Given the description of an element on the screen output the (x, y) to click on. 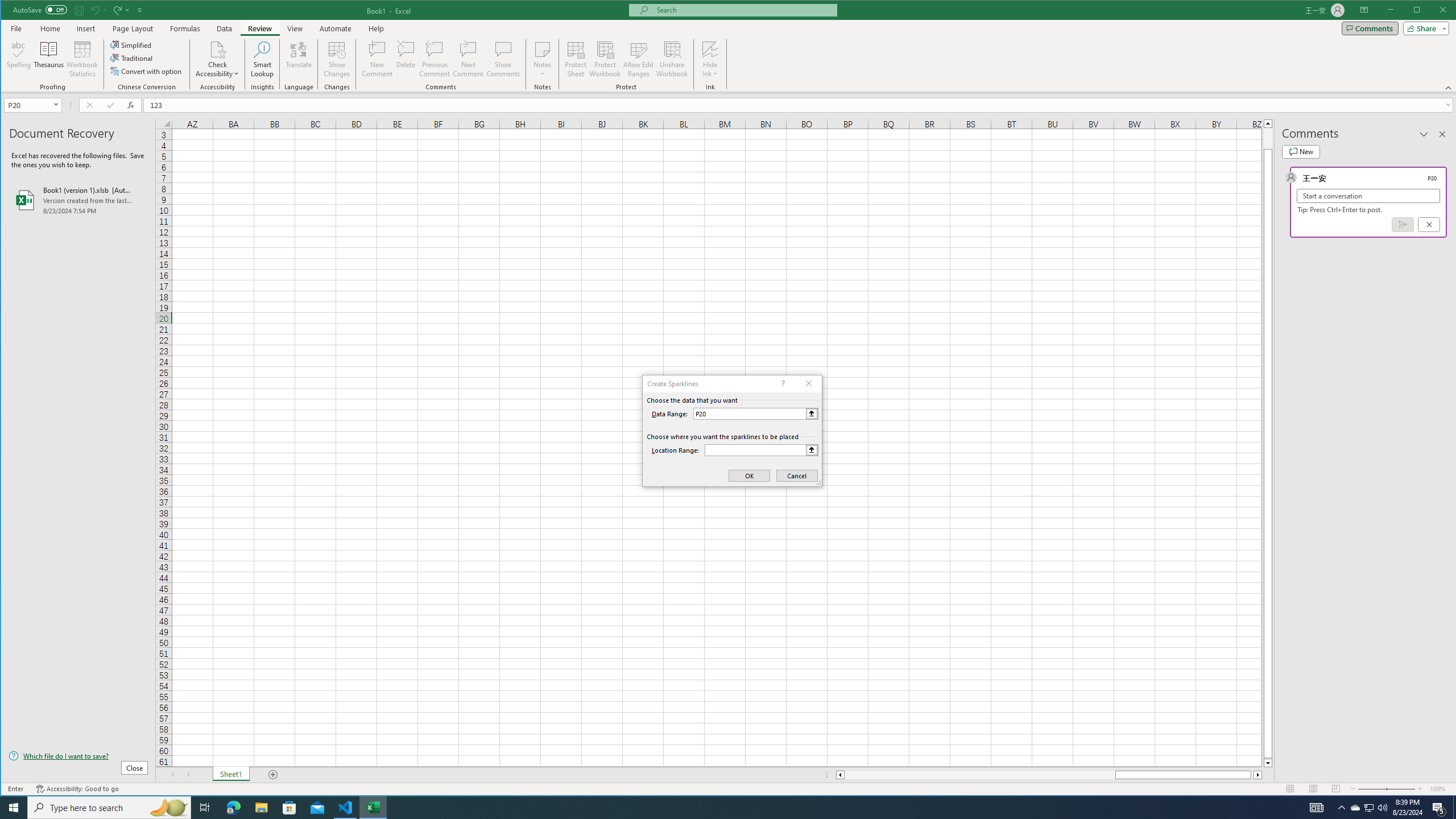
Translate (298, 59)
Cancel (1428, 224)
Show Comments (502, 59)
Next Comment (467, 59)
